Given the description of an element on the screen output the (x, y) to click on. 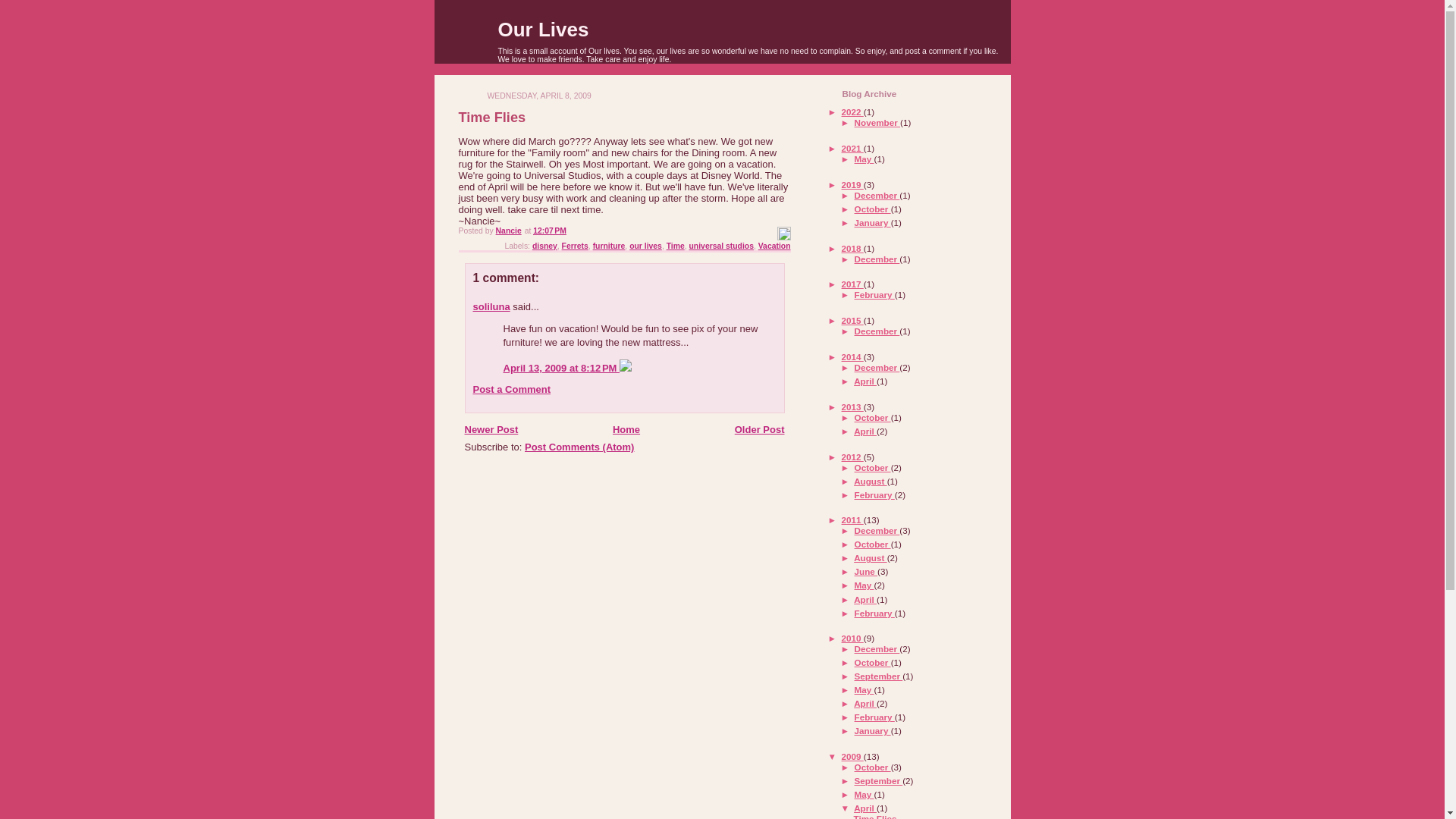
disney (544, 245)
Edit Post (783, 237)
Our Lives (542, 29)
Nancie (508, 230)
permanent link (549, 230)
December (876, 194)
Vacation (774, 245)
2019 (852, 184)
soliluna (492, 306)
universal studios (721, 245)
Older Post (759, 429)
our lives (645, 245)
October (872, 208)
Post a Comment (512, 389)
